Given the description of an element on the screen output the (x, y) to click on. 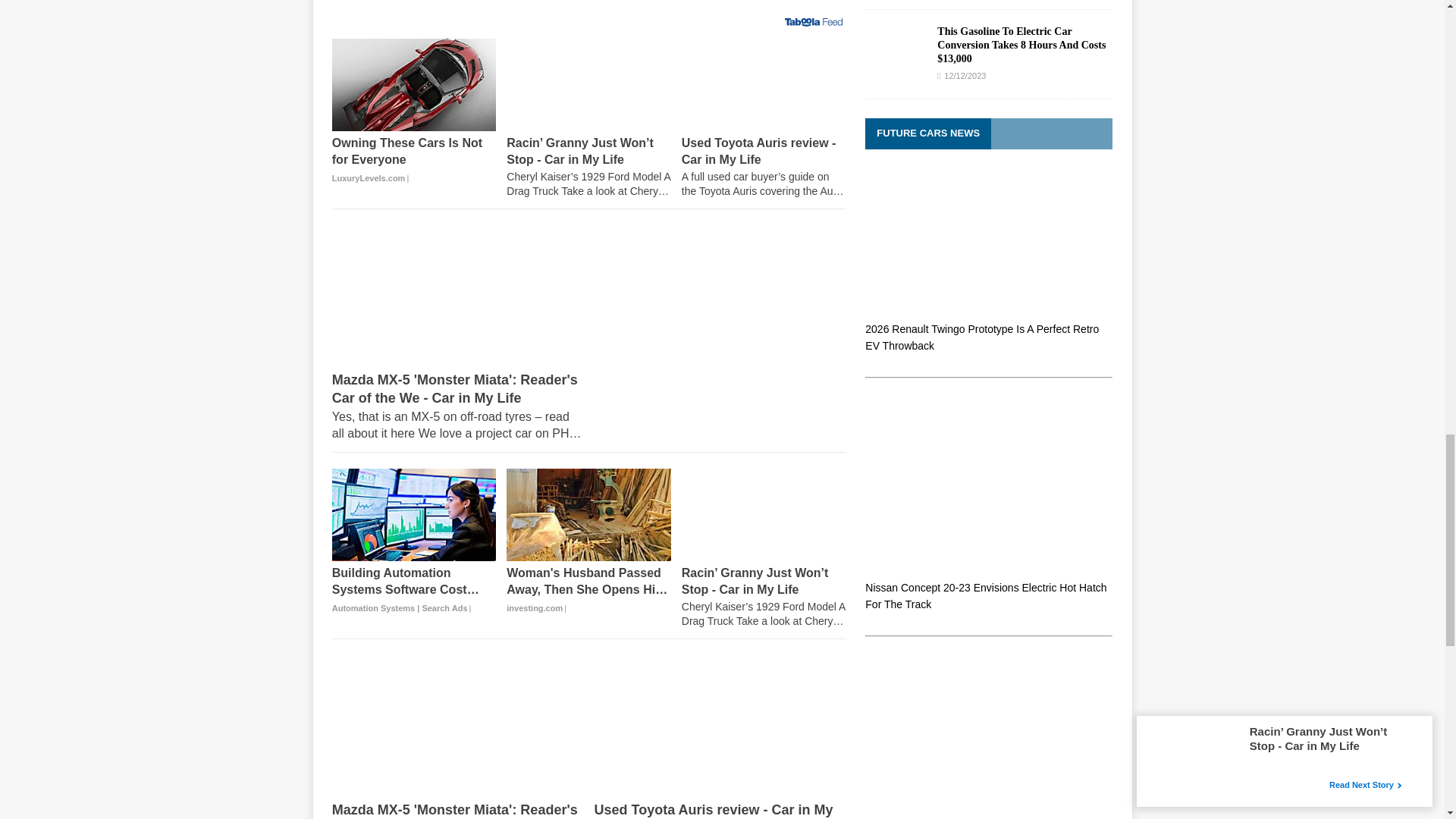
Used Toyota Auris review - Car in My Life (763, 84)
Owning These Cars Is Not for Everyone (413, 160)
Owning These Cars Is Not for Everyone (413, 84)
Used Toyota Auris review - Car in My Life (763, 167)
